Given the description of an element on the screen output the (x, y) to click on. 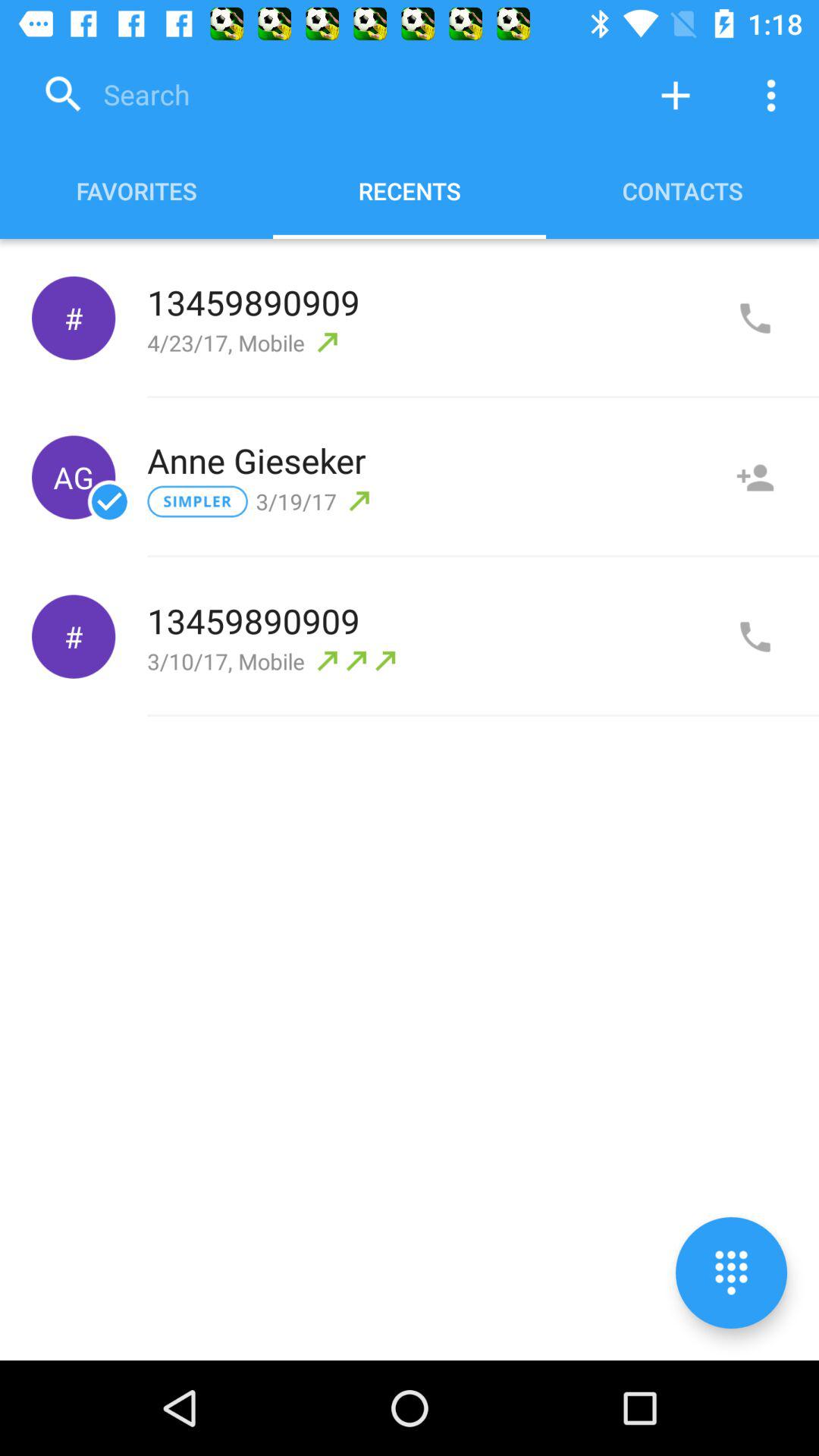
search contact (329, 95)
